Given the description of an element on the screen output the (x, y) to click on. 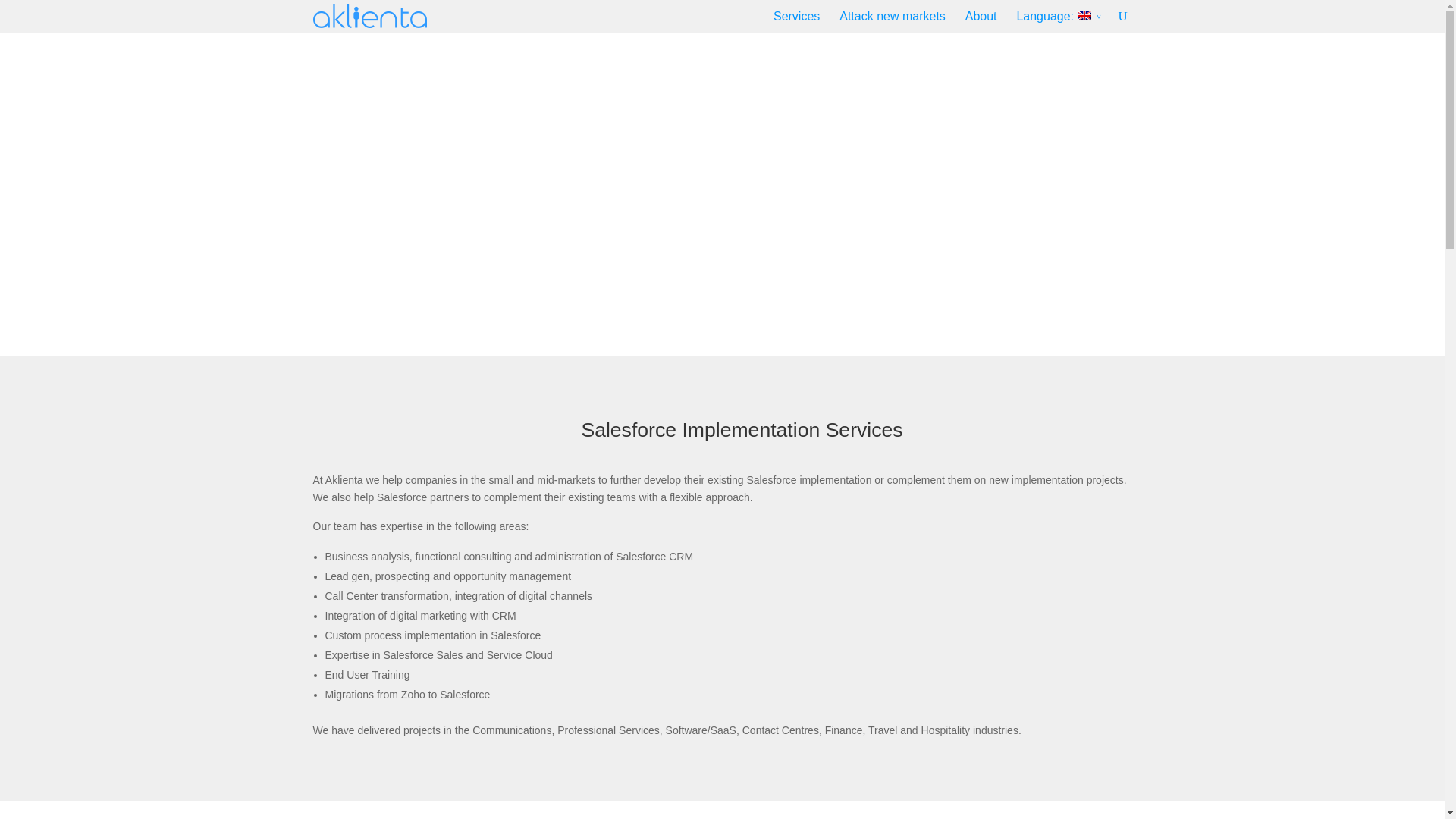
Attack new markets (892, 16)
English (1058, 16)
Language:  (1058, 16)
Services (796, 16)
About (981, 16)
